Given the description of an element on the screen output the (x, y) to click on. 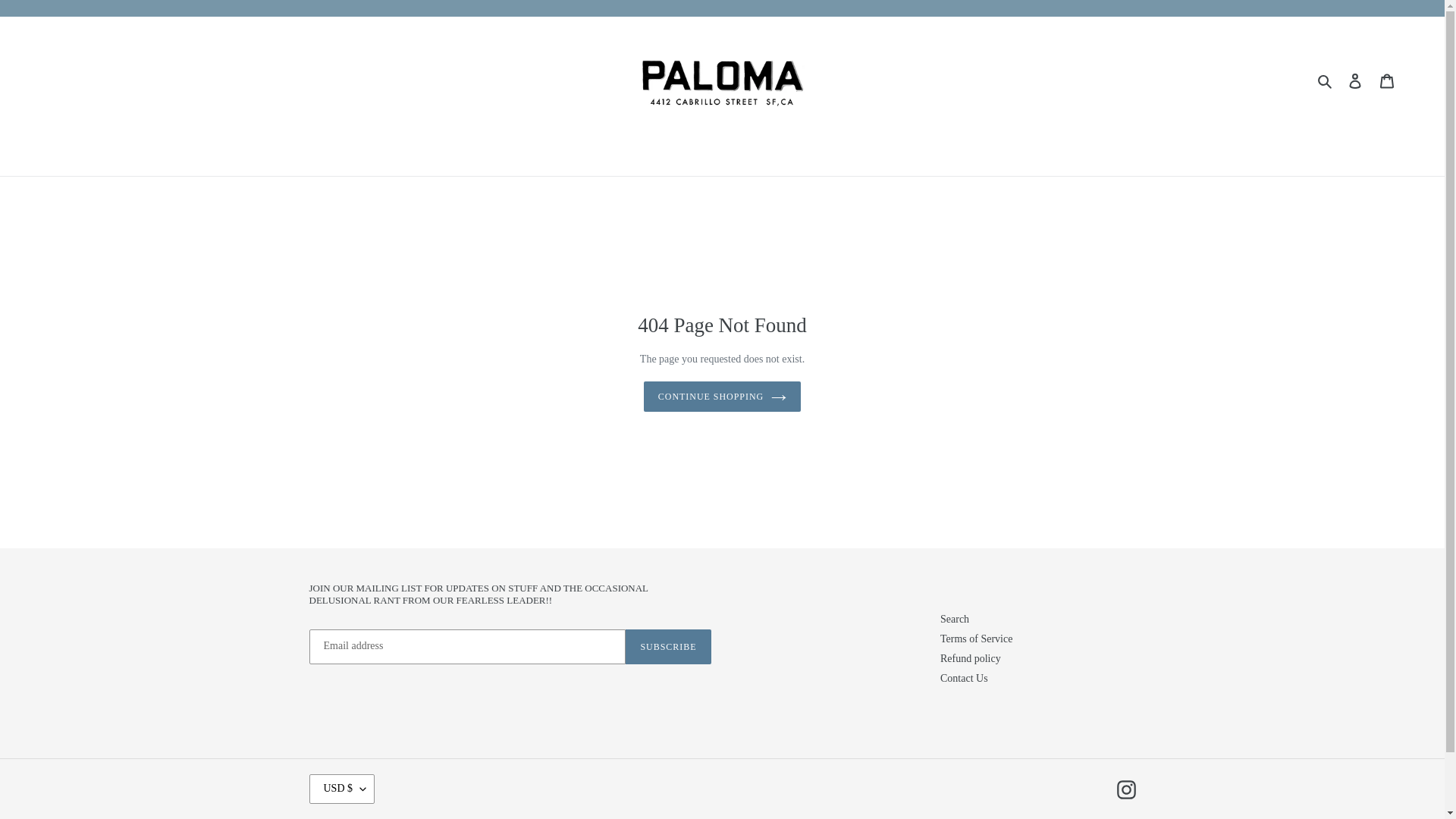
Refund policy (970, 658)
Search (1326, 80)
Instagram (1125, 789)
Contact Us (964, 677)
Log in (1355, 80)
Search (954, 618)
CONTINUE SHOPPING (721, 396)
Cart (1387, 80)
Terms of Service (975, 638)
SUBSCRIBE (668, 646)
